Given the description of an element on the screen output the (x, y) to click on. 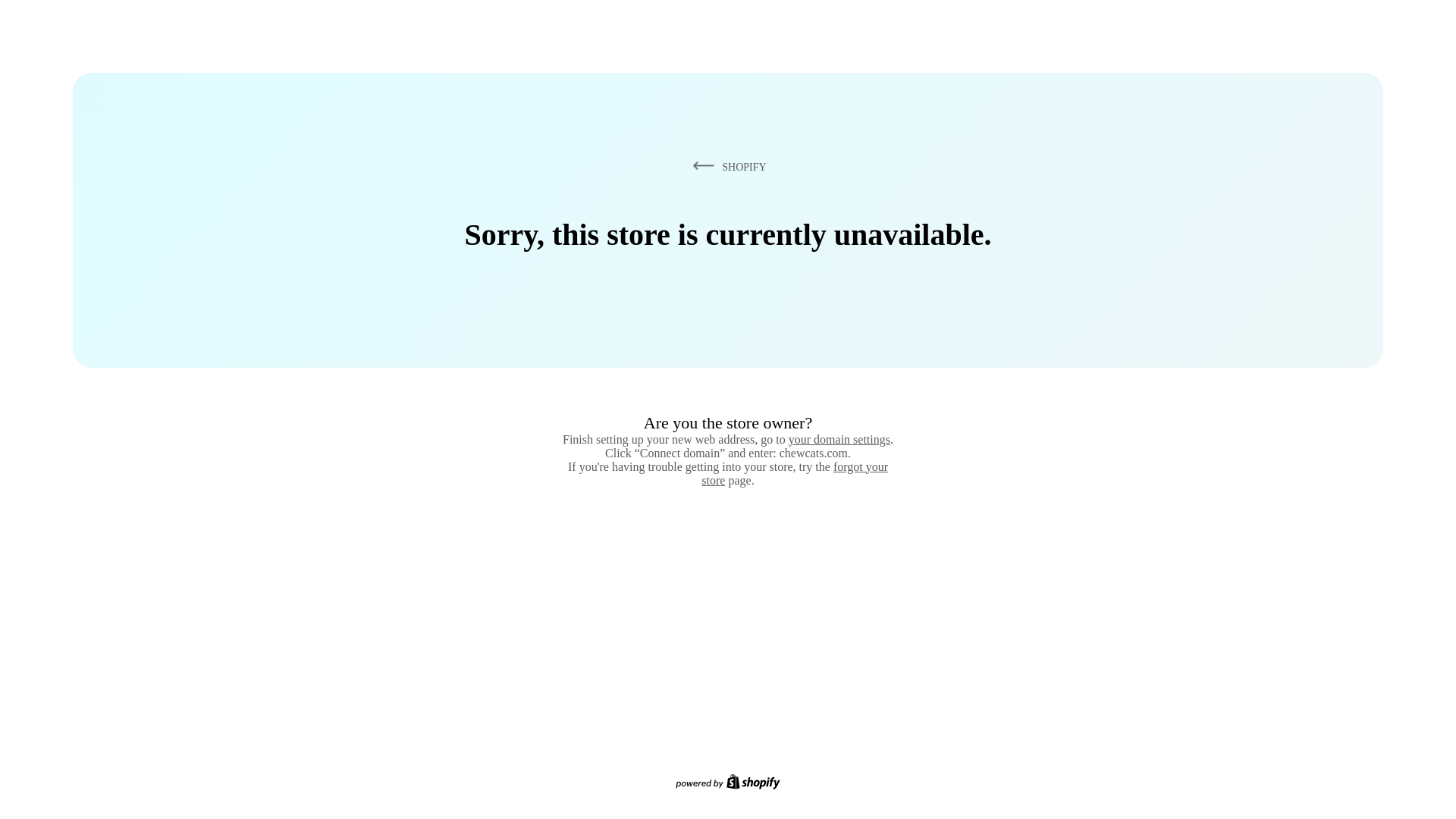
your domain settings (839, 439)
forgot your store (794, 473)
SHOPIFY (726, 166)
